Given the description of an element on the screen output the (x, y) to click on. 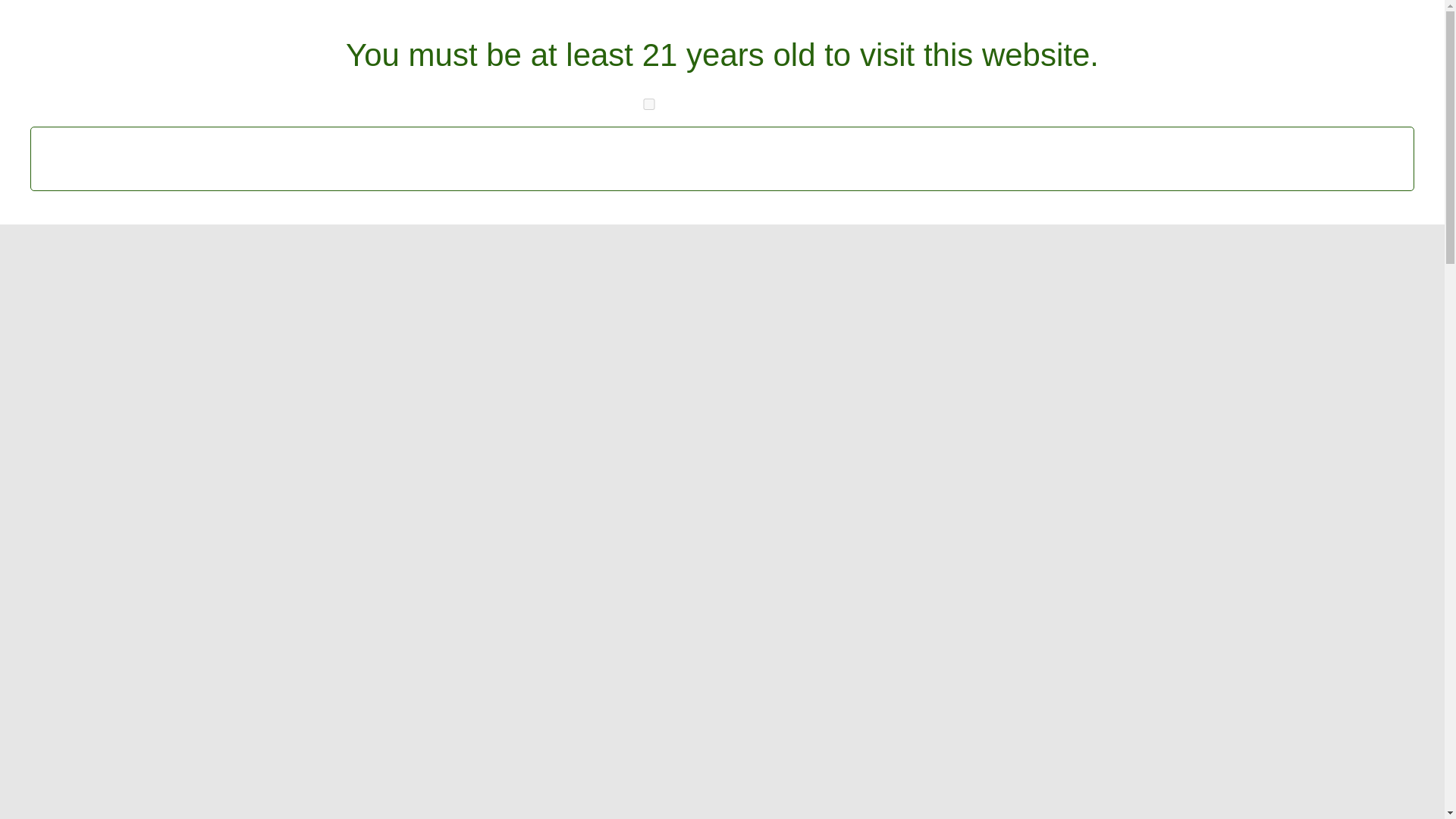
Our Company (453, 67)
Shop (349, 67)
DISCREET LOCATION (804, 15)
OPEN 7 DAYS A WEEK (643, 15)
Daily Deals (654, 67)
1 (649, 103)
Menu (559, 67)
Home (278, 67)
Products (763, 67)
Marijuana Flower or Strains (1009, 448)
